Given the description of an element on the screen output the (x, y) to click on. 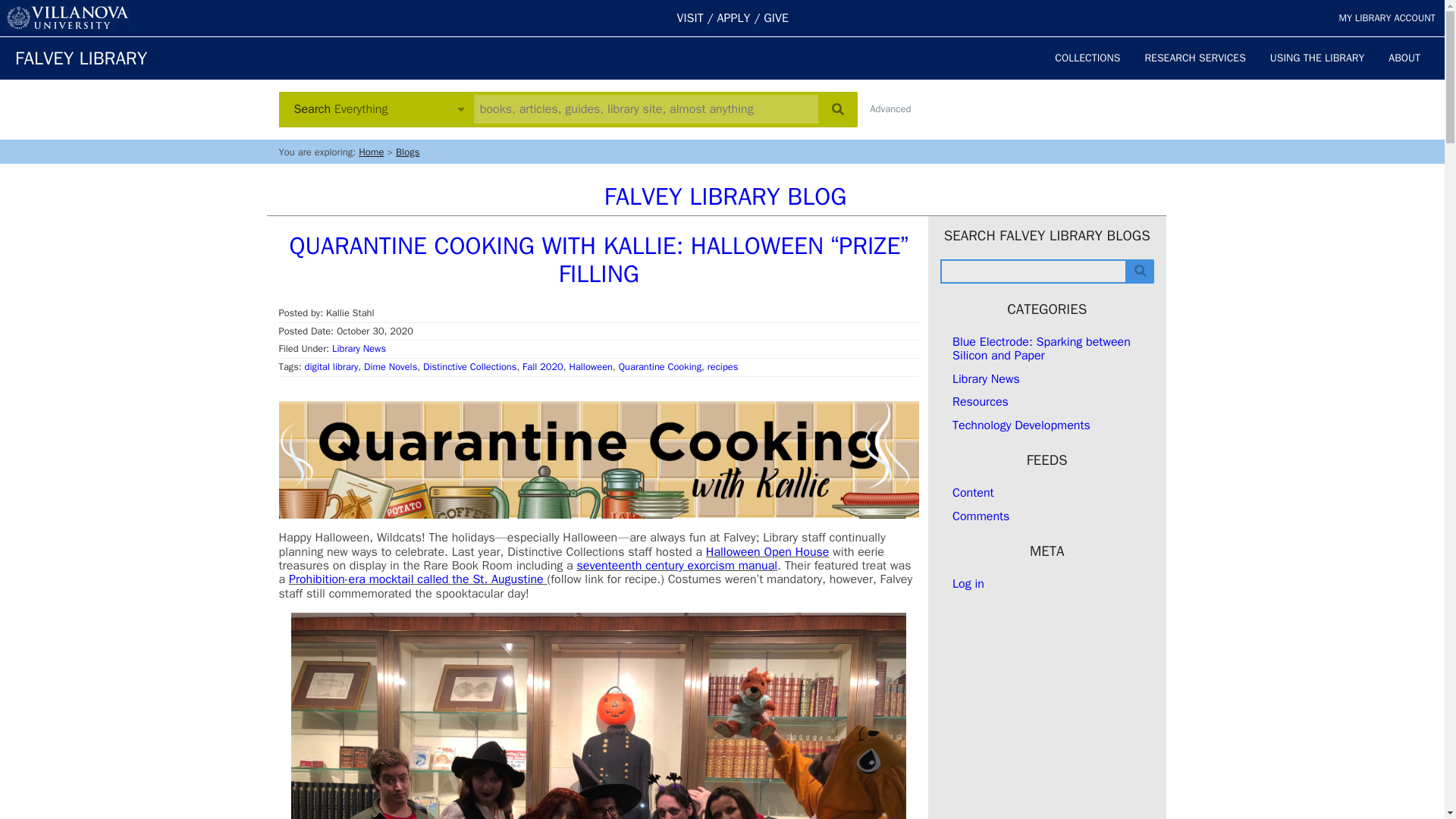
APPLY (734, 17)
The latest comments to all posts in RSS (980, 516)
RESEARCH SERVICES (1194, 57)
VISIT (690, 17)
MY LIBRARY ACCOUNT (1386, 18)
GIVE (775, 17)
Syndicate this site using RSS (973, 492)
COLLECTIONS (1087, 57)
